Given the description of an element on the screen output the (x, y) to click on. 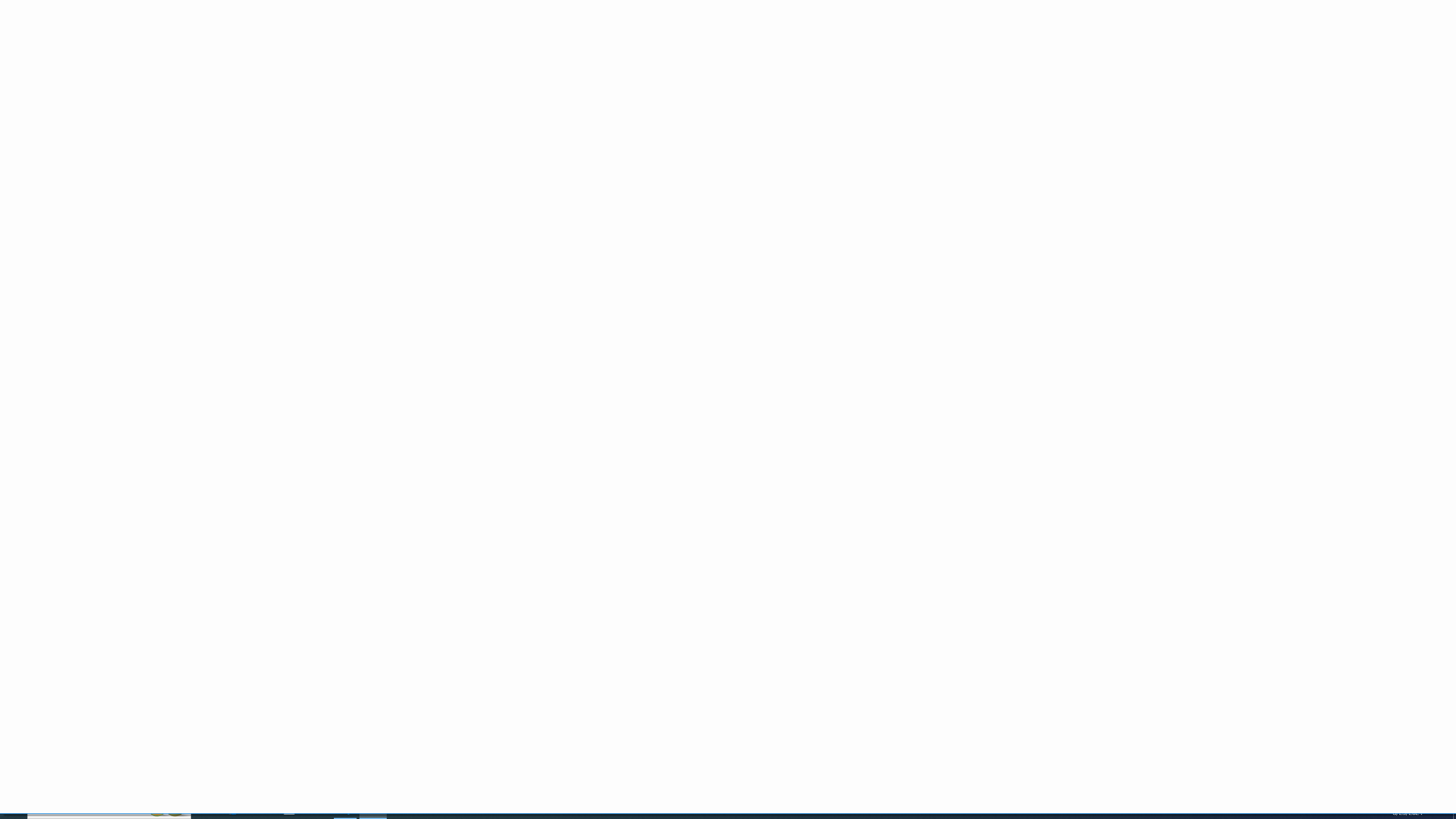
Show Phonetic Field (231, 67)
Font Size (207, 49)
AutoSum (1011, 44)
Analyze Data (1110, 58)
Increase Decimal (474, 67)
Borders (162, 67)
Format Cell Number (494, 85)
Top Align (262, 49)
